Given the description of an element on the screen output the (x, y) to click on. 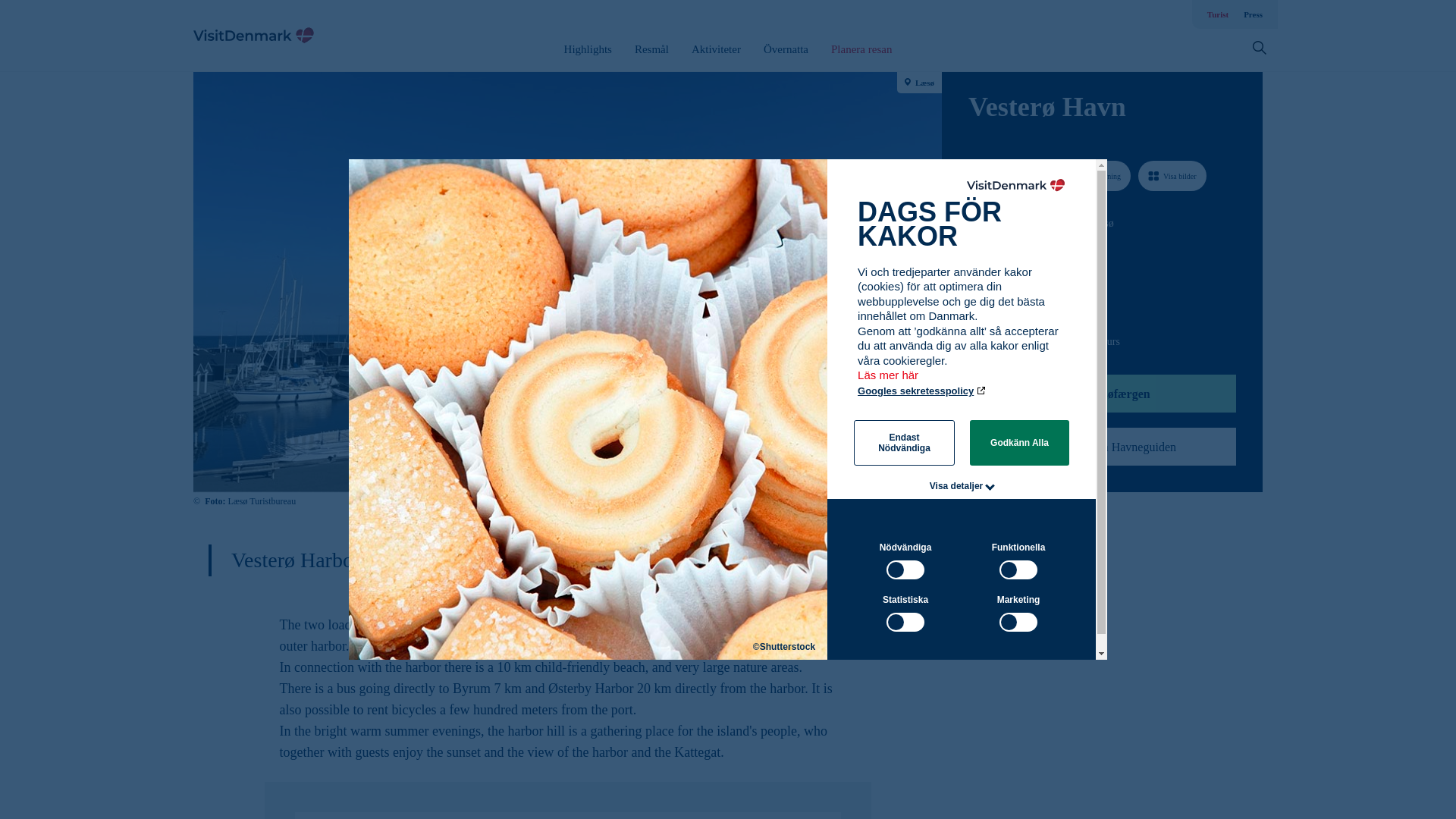
Path (973, 250)
Googles sekretesspolicy (922, 390)
Path (973, 310)
Visa detaljer (957, 485)
